Given the description of an element on the screen output the (x, y) to click on. 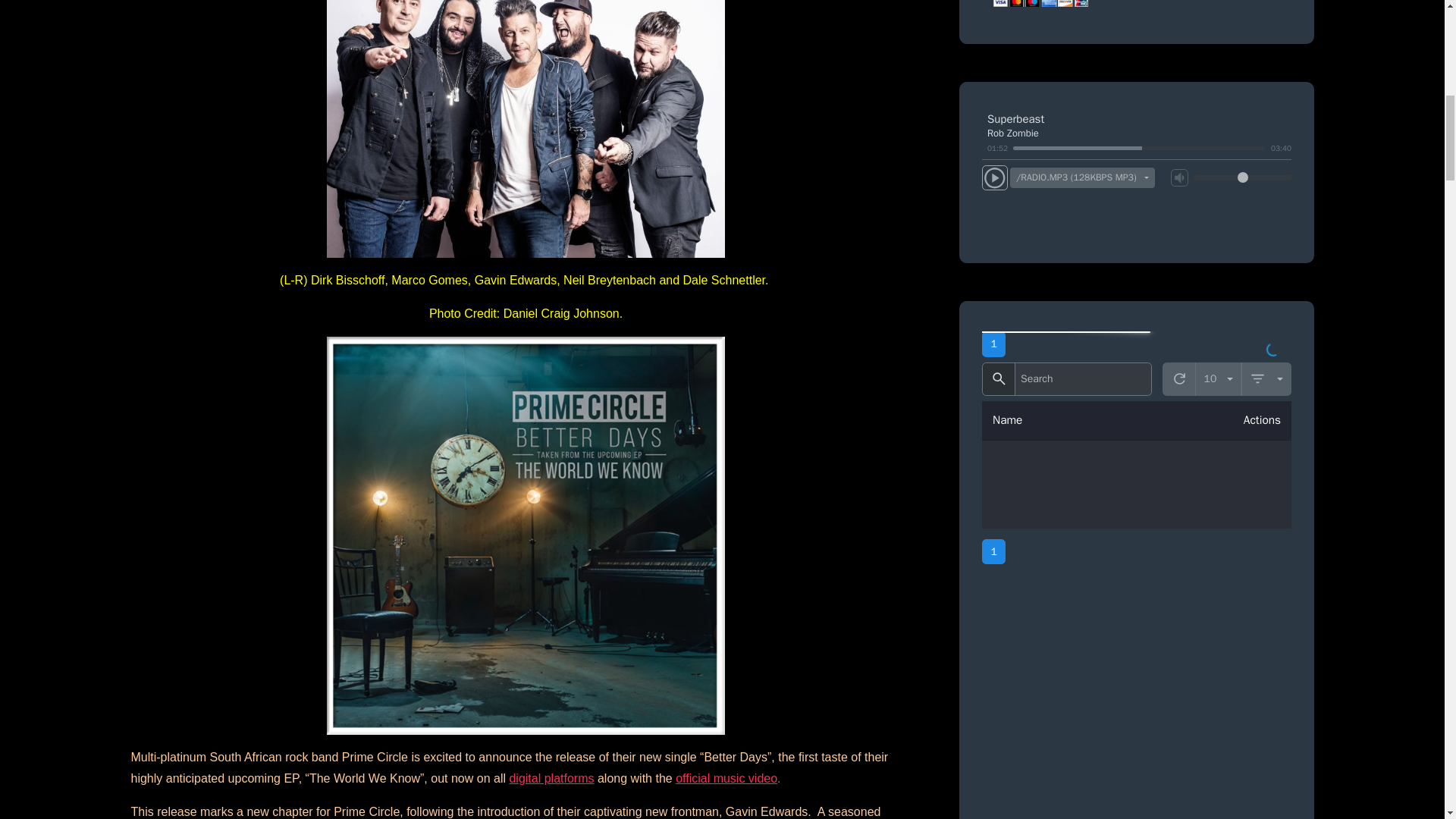
digital platforms (551, 778)
official music video (726, 778)
